Given the description of an element on the screen output the (x, y) to click on. 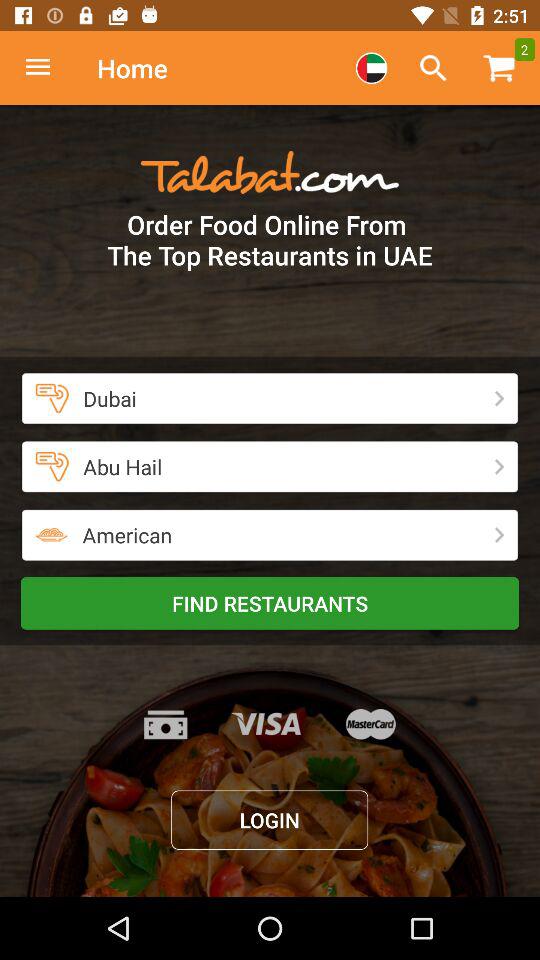
show menu (48, 67)
